Given the description of an element on the screen output the (x, y) to click on. 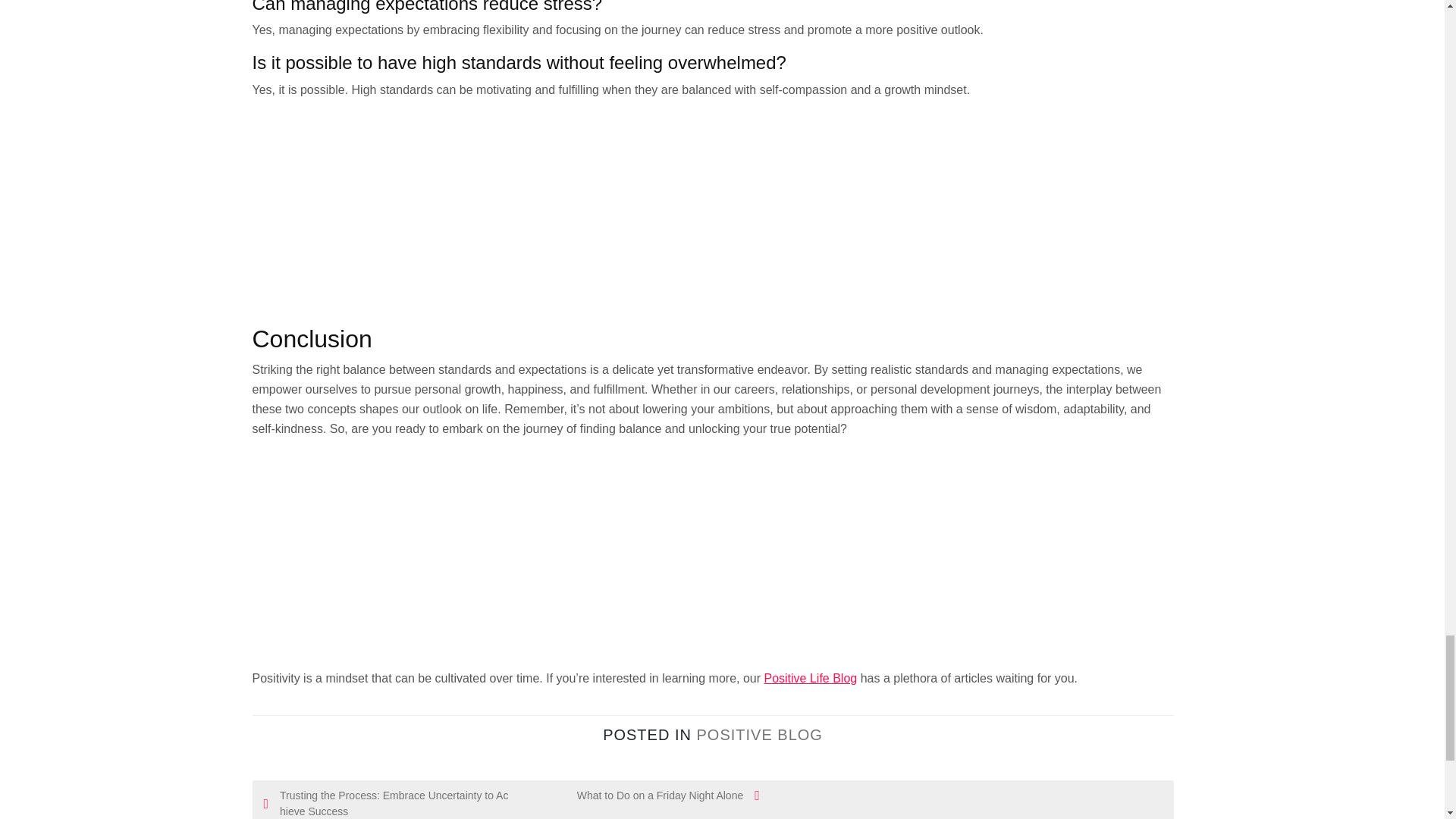
What to Do on a Friday Night Alone (636, 795)
POSITIVE BLOG (758, 734)
Positive Life Blog (809, 677)
Trusting the Process: Embrace Uncertainty to Achieve Success (387, 803)
